Given the description of an element on the screen output the (x, y) to click on. 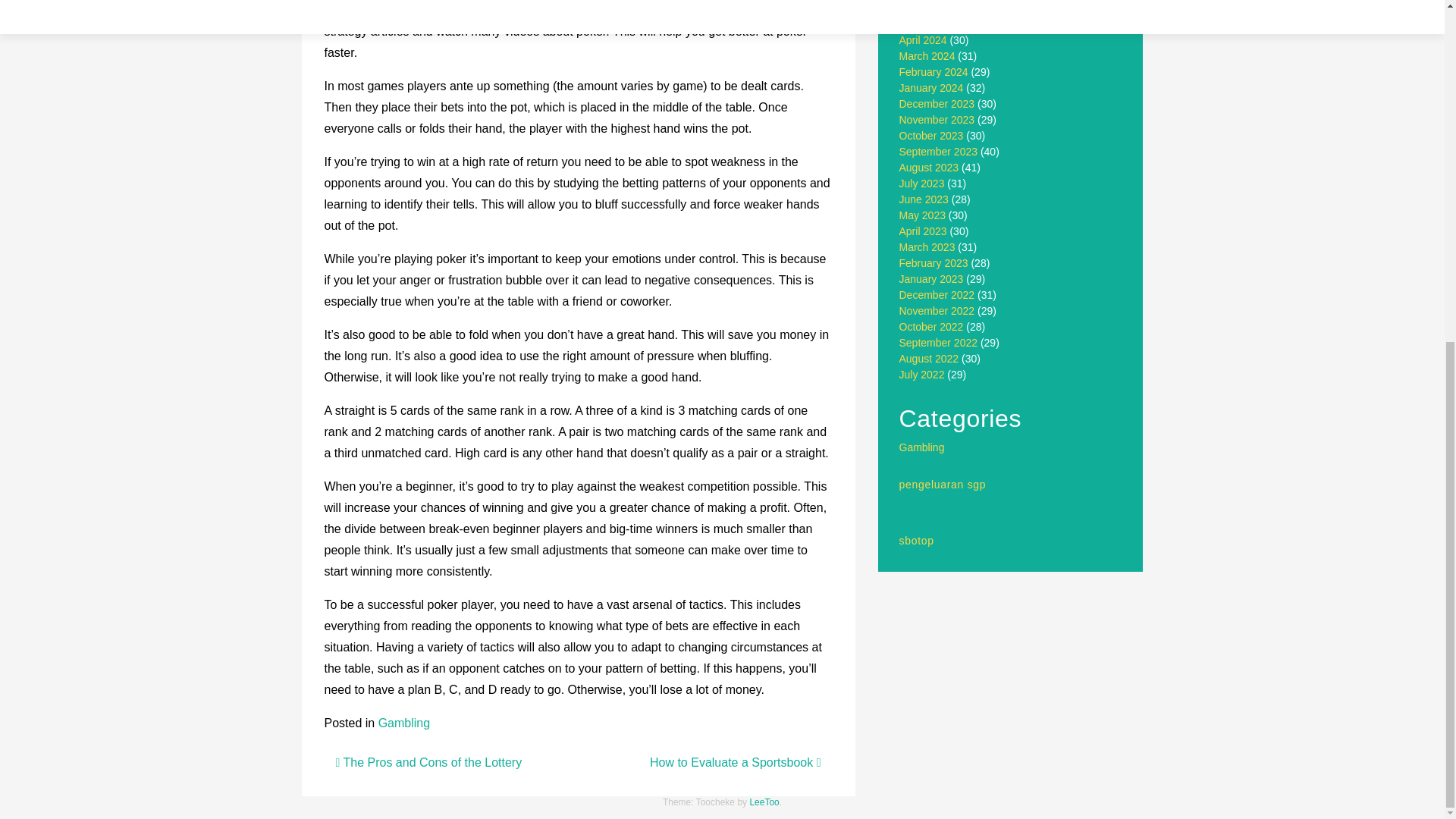
Gambling (921, 447)
February 2024 (933, 71)
April 2023 (923, 231)
June 2023 (924, 199)
How to Evaluate a Sportsbook  (735, 762)
December 2022 (937, 295)
October 2023 (931, 135)
September 2022 (938, 342)
February 2023 (933, 263)
January 2024 (931, 87)
